Given the description of an element on the screen output the (x, y) to click on. 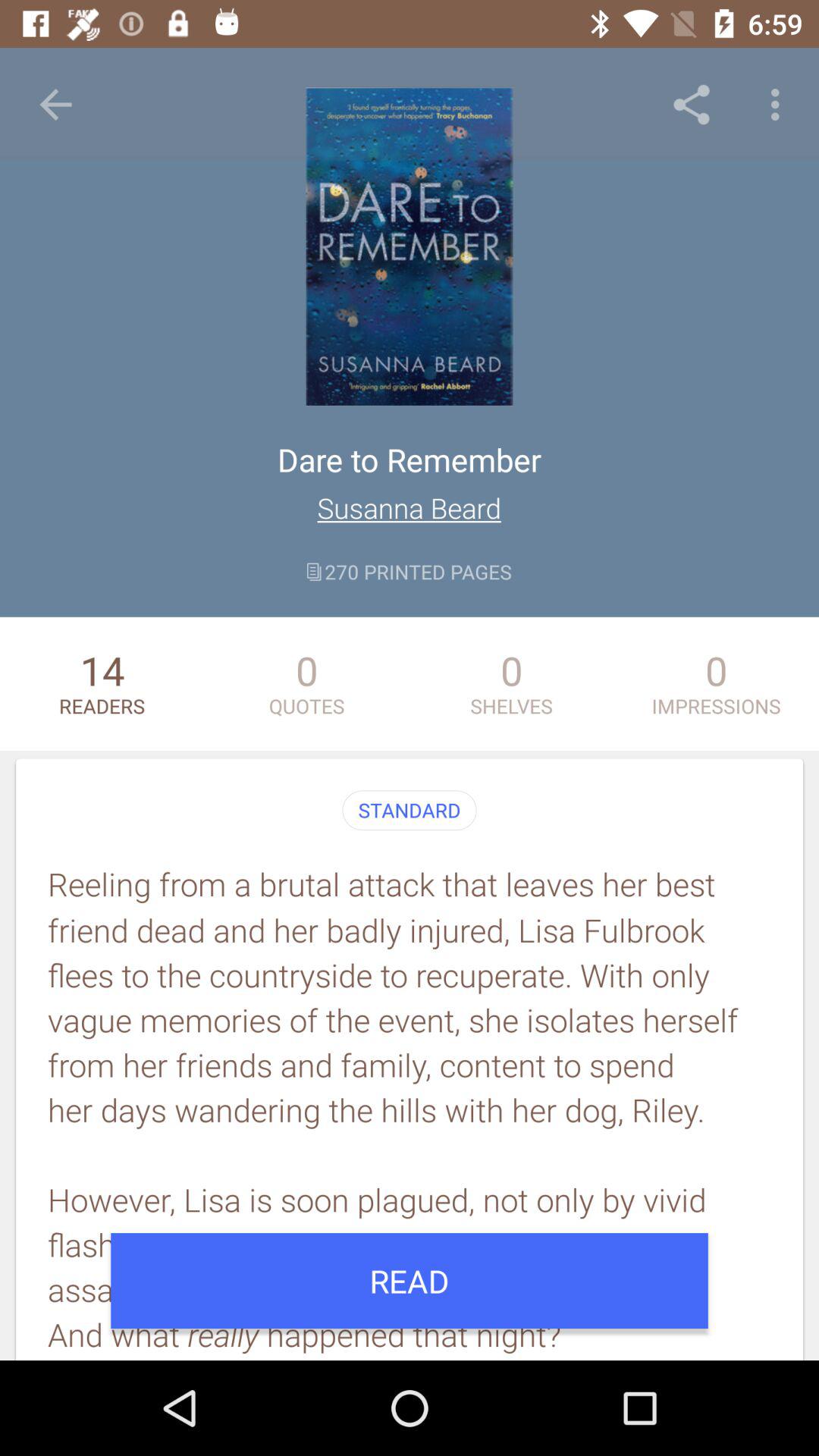
launch item below dare to remember (408, 507)
